Given the description of an element on the screen output the (x, y) to click on. 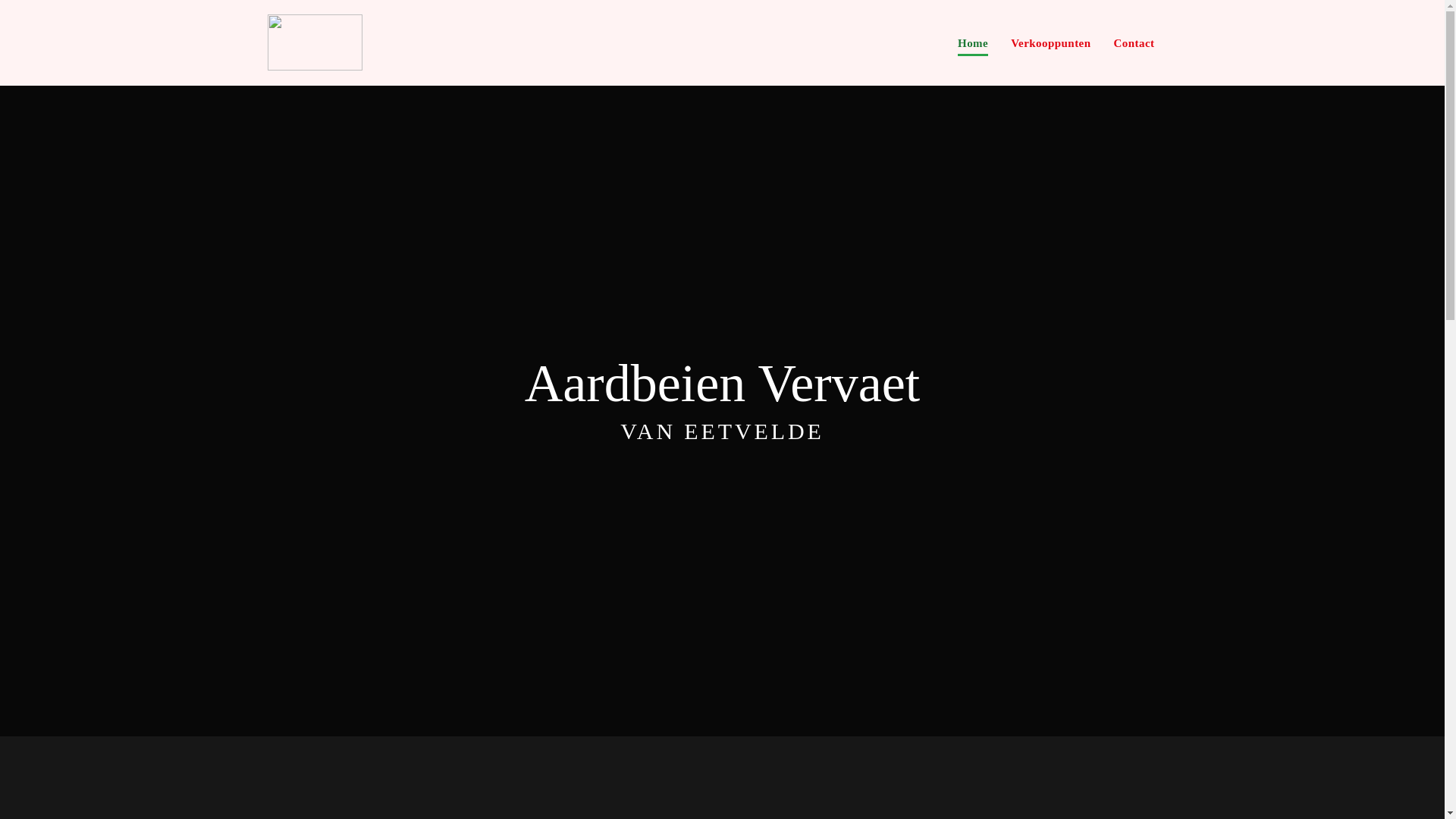
Home Element type: text (972, 43)
Verkooppunten Element type: text (1050, 43)
Contact Element type: text (1134, 43)
